Given the description of an element on the screen output the (x, y) to click on. 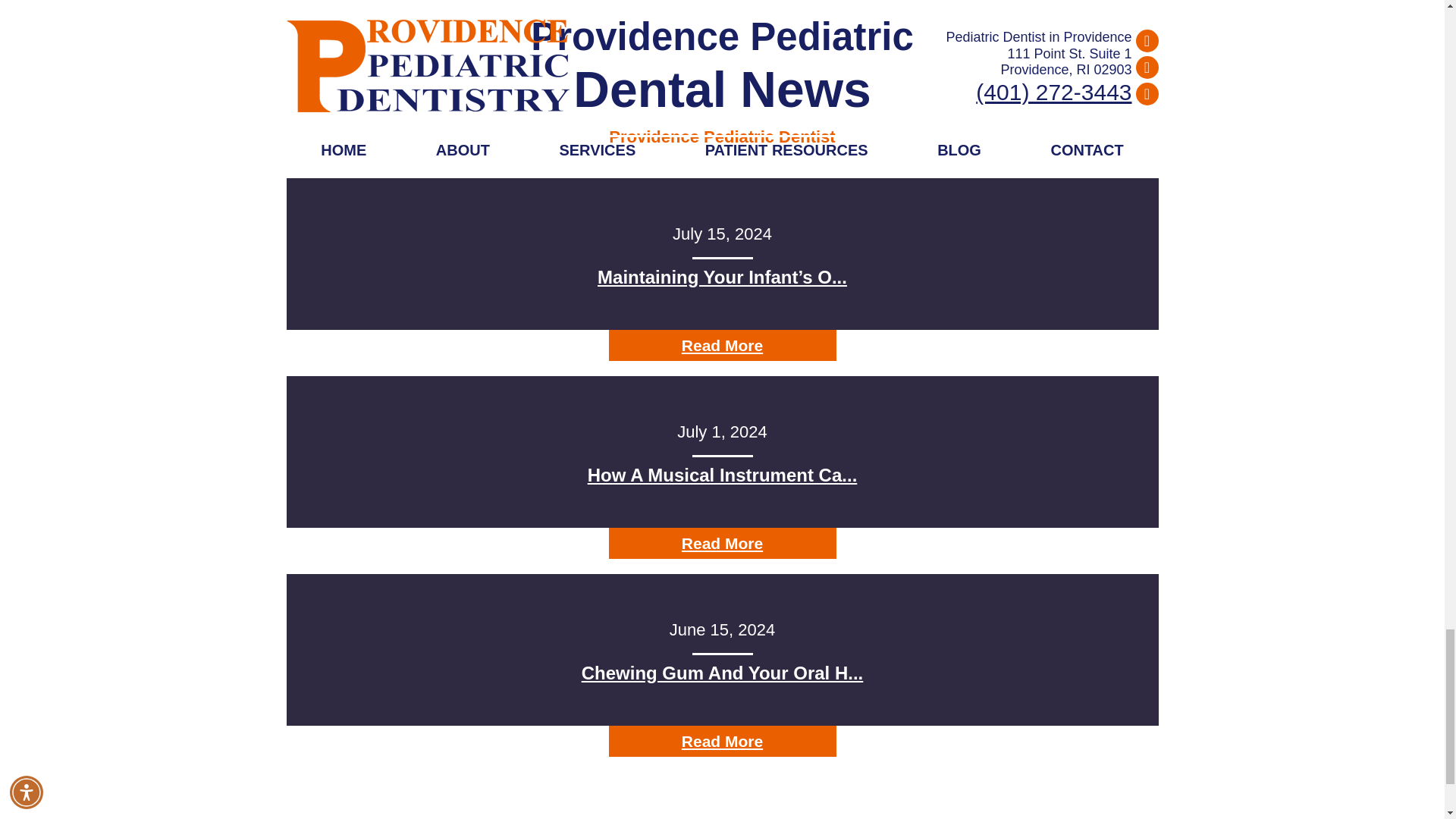
Read More (721, 345)
